Given the description of an element on the screen output the (x, y) to click on. 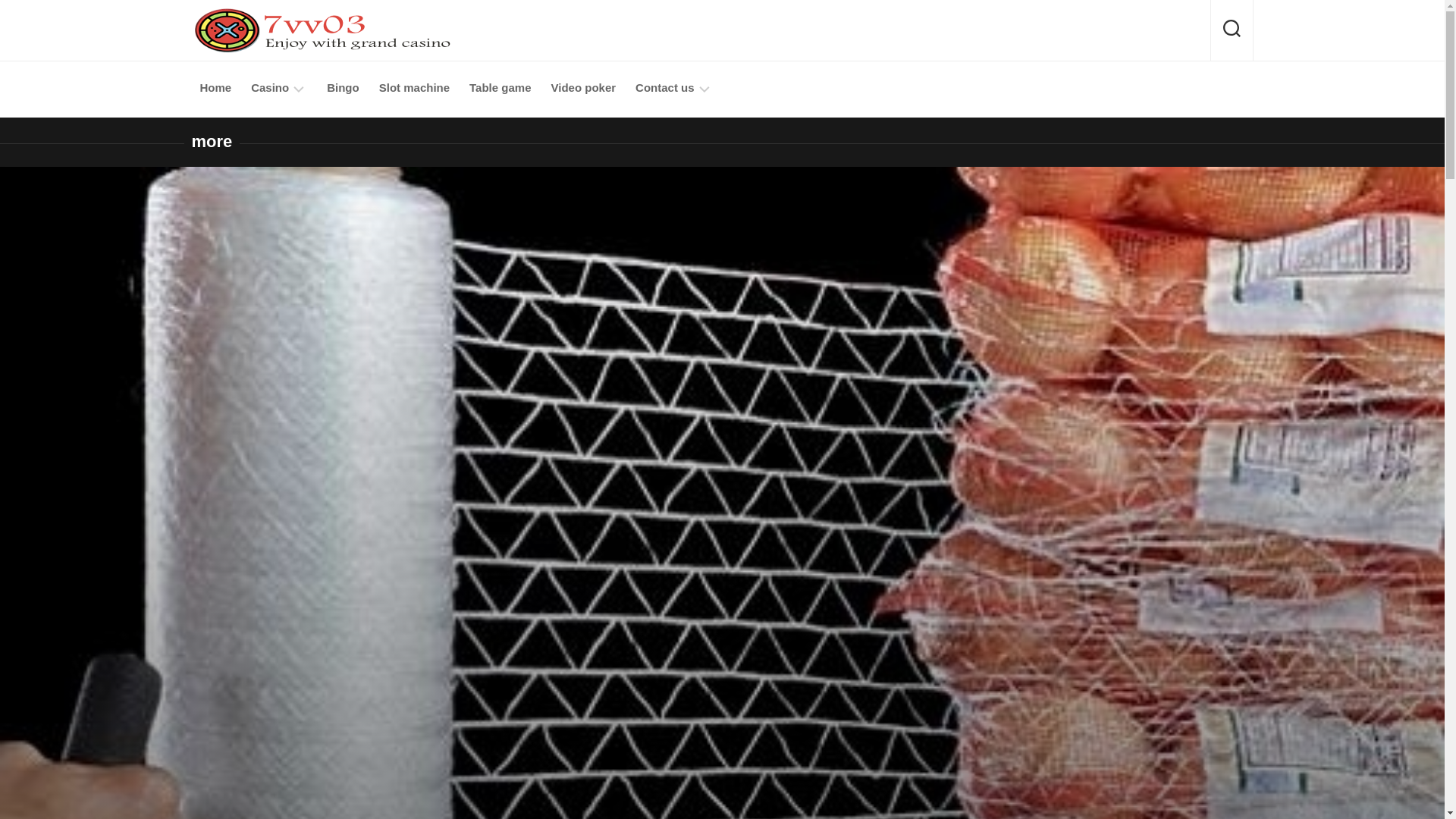
Slot machine (413, 87)
more (210, 140)
Home (215, 87)
Contact us (664, 87)
Table game (499, 87)
Bingo (342, 87)
Casino (269, 87)
Video poker (582, 87)
